Given the description of an element on the screen output the (x, y) to click on. 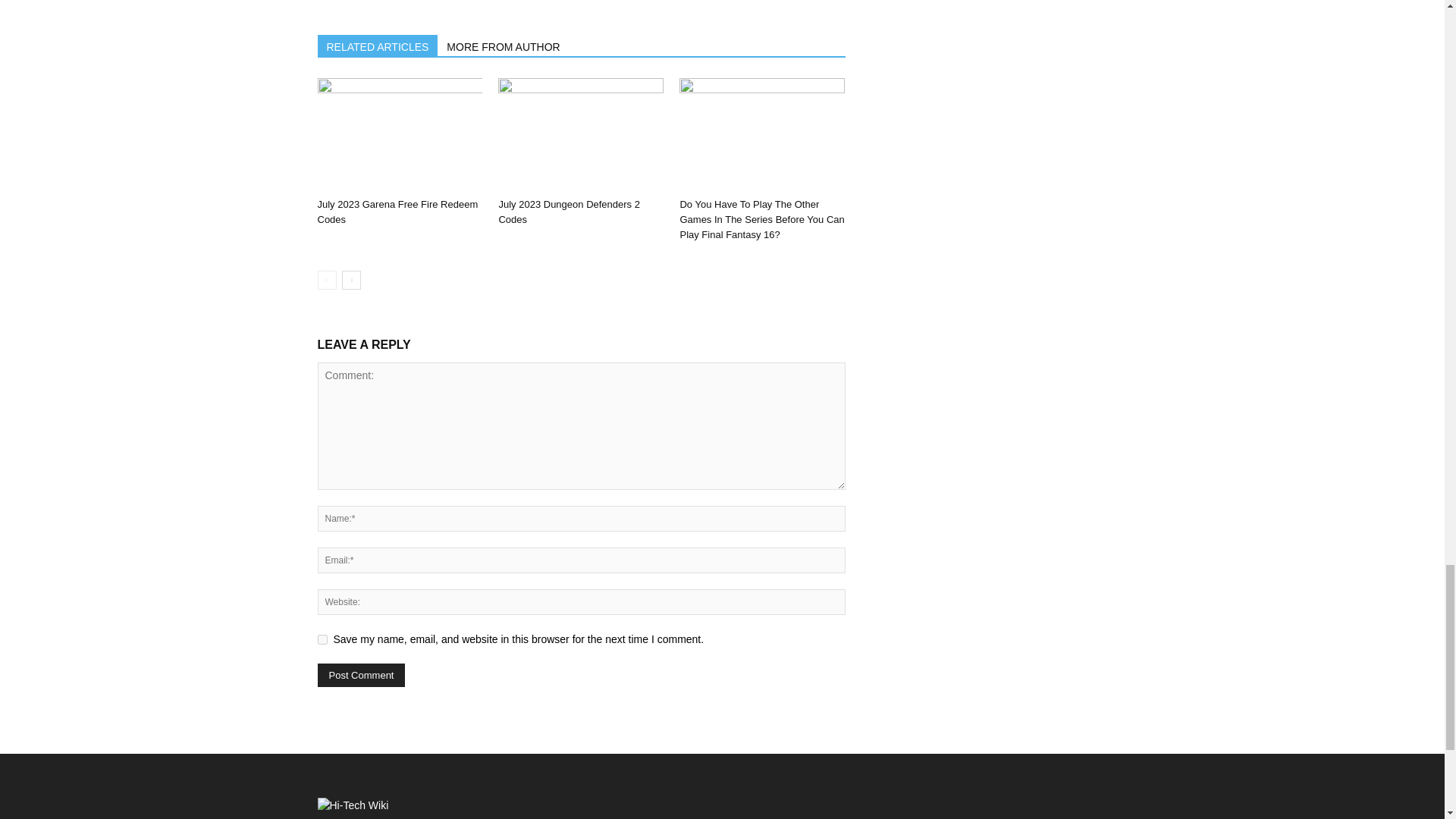
yes (321, 639)
July 2023 Garena Free Fire Redeem Codes (399, 134)
Post Comment (360, 675)
